Given the description of an element on the screen output the (x, y) to click on. 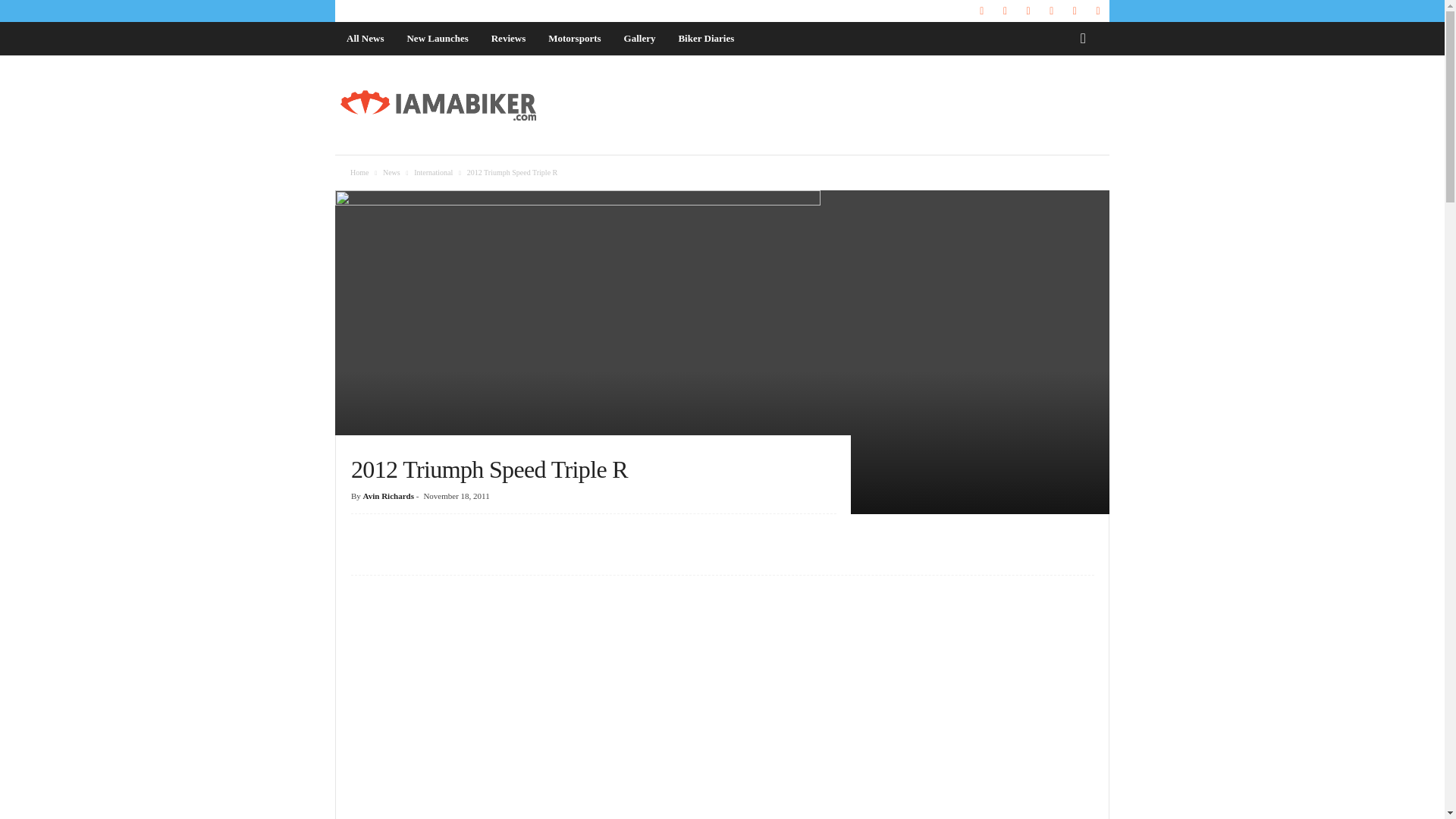
All News (364, 38)
KNOW THE TEAM (370, 10)
CONTACT US (441, 10)
TERMS AND CONDITIONS (658, 10)
